Given the description of an element on the screen output the (x, y) to click on. 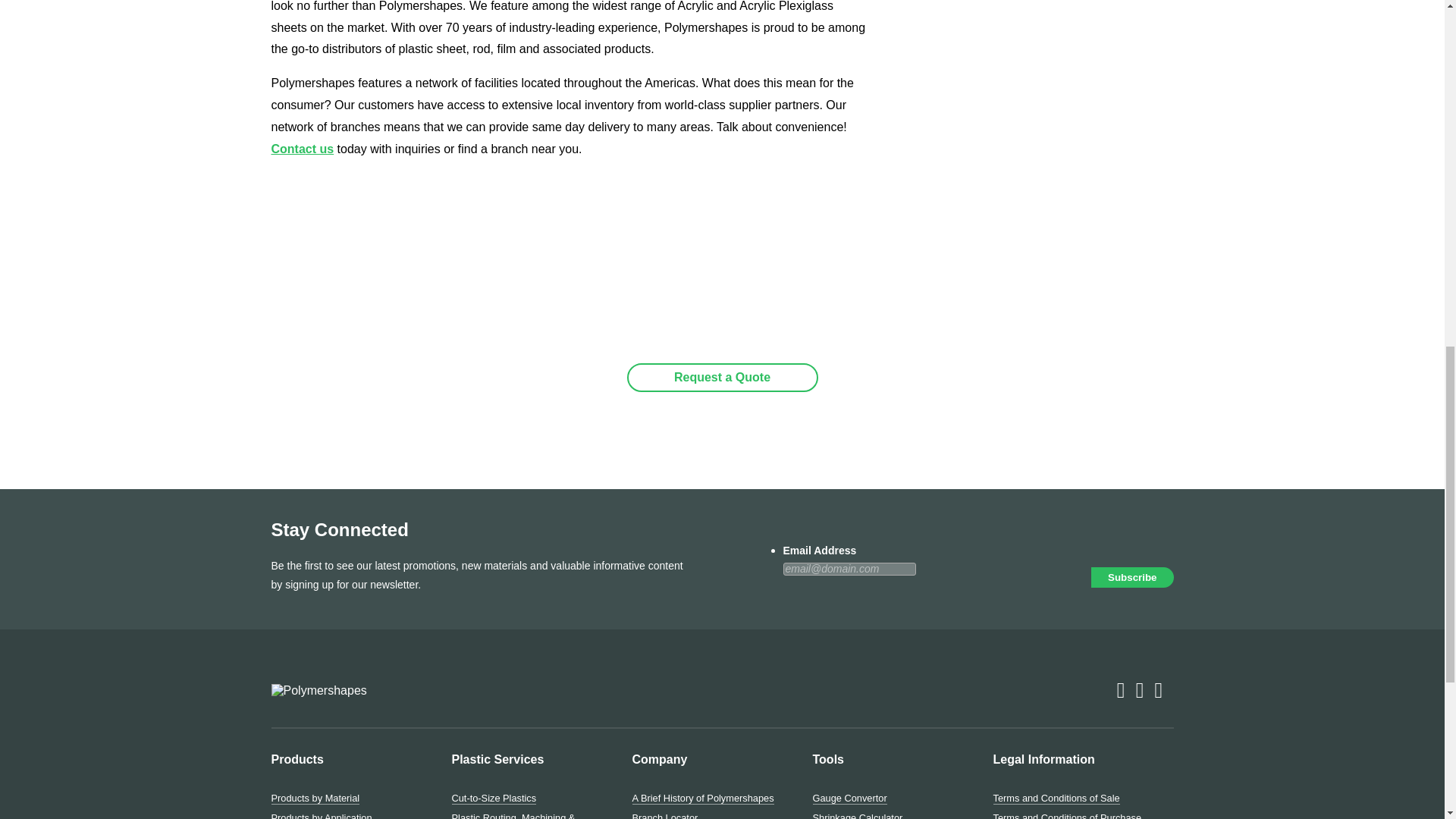
Request a Quote (721, 377)
Subscribe (1131, 577)
Subscribe (1131, 577)
ct us (319, 148)
Conta (287, 148)
